Given the description of an element on the screen output the (x, y) to click on. 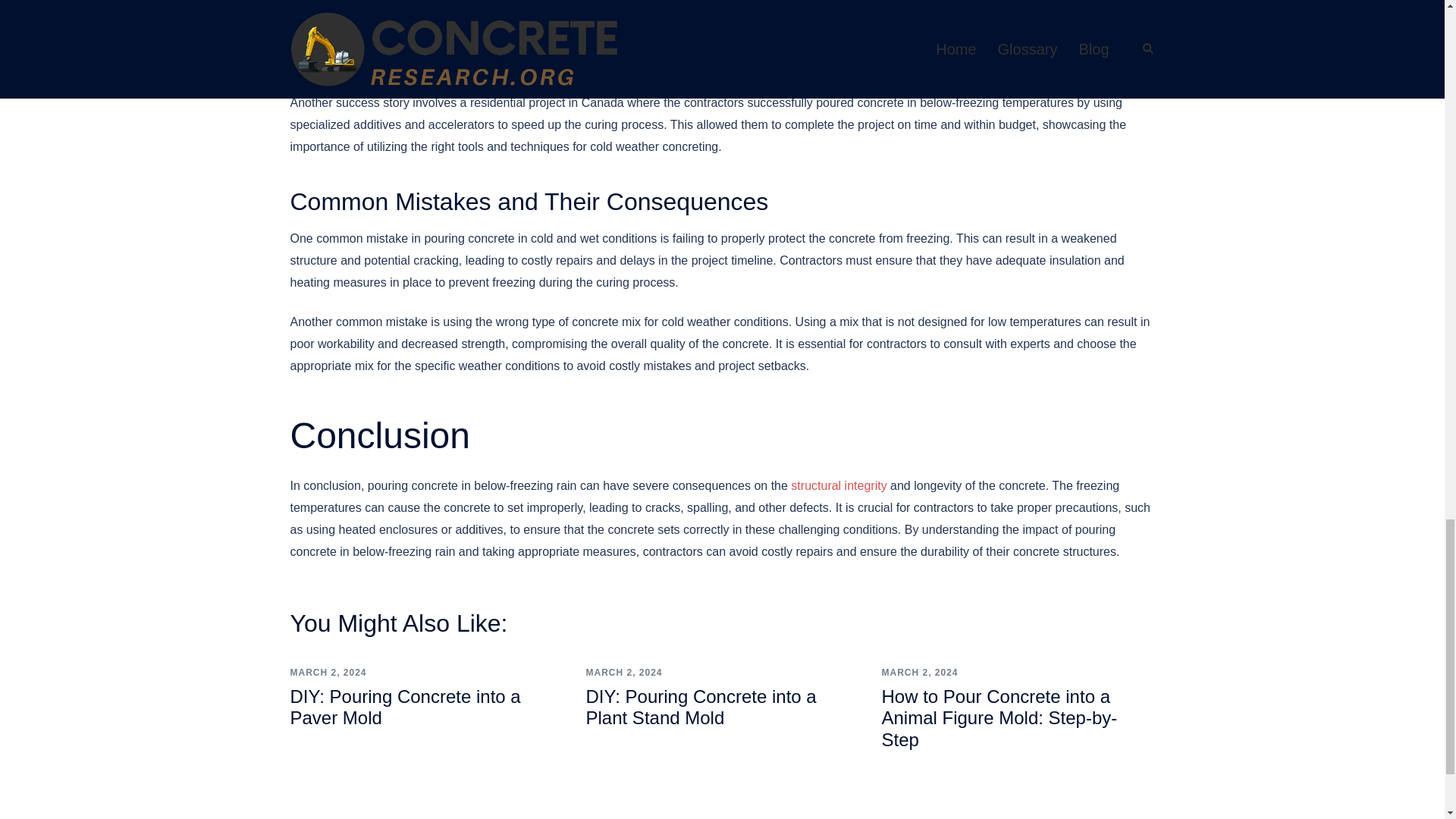
structural integrity (838, 485)
MARCH 2, 2024 (919, 672)
How to Pour Concrete into a Animal Figure Mold: Step-by-Step (998, 718)
MARCH 2, 2024 (623, 672)
DIY: Pouring Concrete into a Plant Stand Mold (700, 707)
MARCH 2, 2024 (327, 672)
structural integrity (838, 485)
DIY: Pouring Concrete into a Paver Mold (404, 707)
